Given the description of an element on the screen output the (x, y) to click on. 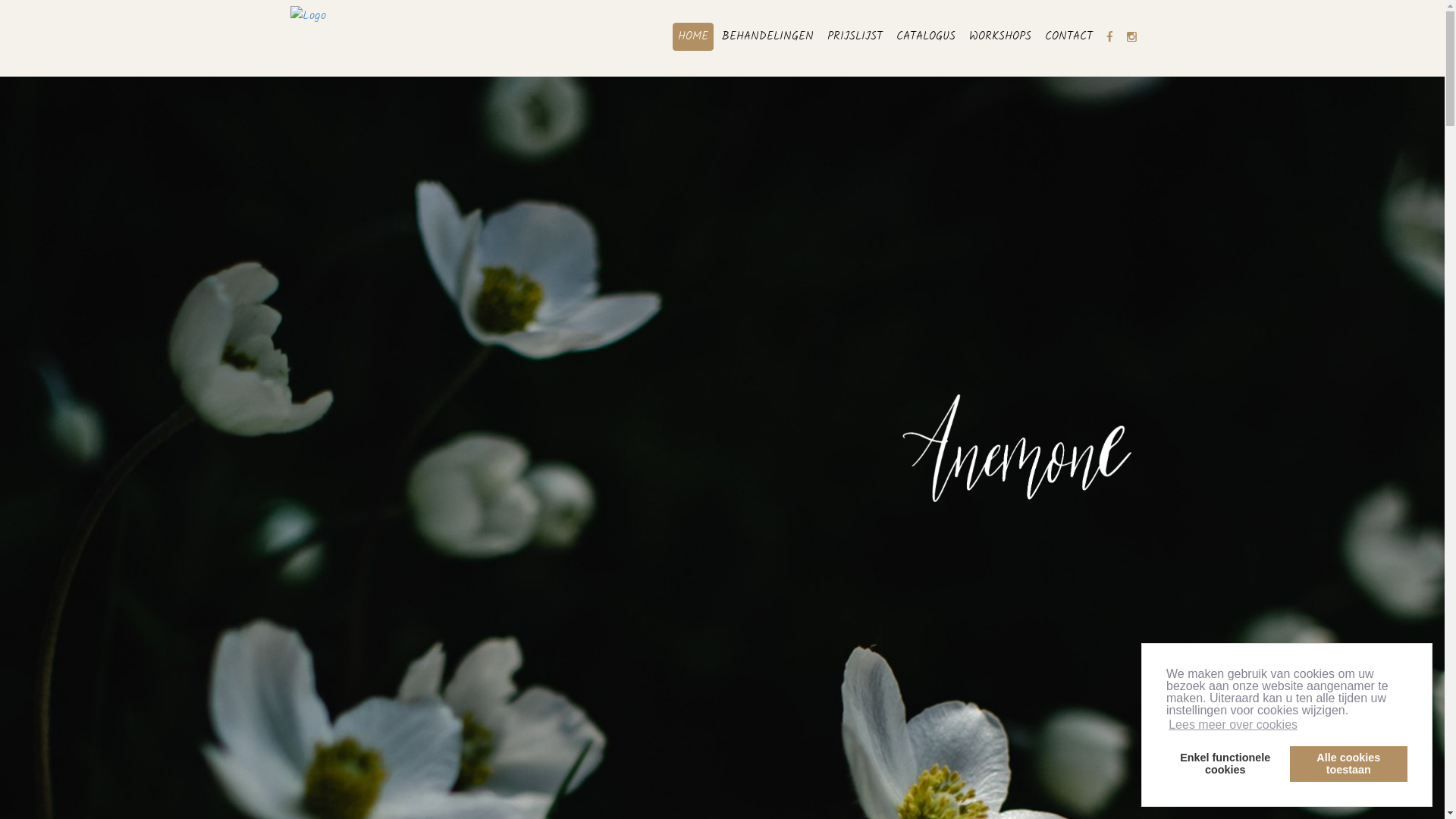
CATALOGUS Element type: text (925, 36)
WORKSHOPS Element type: text (999, 36)
Enkel functionele
cookies Element type: text (1224, 764)
Lees meer over cookies Element type: text (1232, 724)
Alle cookies
toestaan Element type: text (1348, 764)
PRIJSLIJST Element type: text (855, 36)
CONTACT Element type: text (1067, 36)
HOME Element type: text (691, 36)
BEHANDELINGEN Element type: text (766, 36)
